Given the description of an element on the screen output the (x, y) to click on. 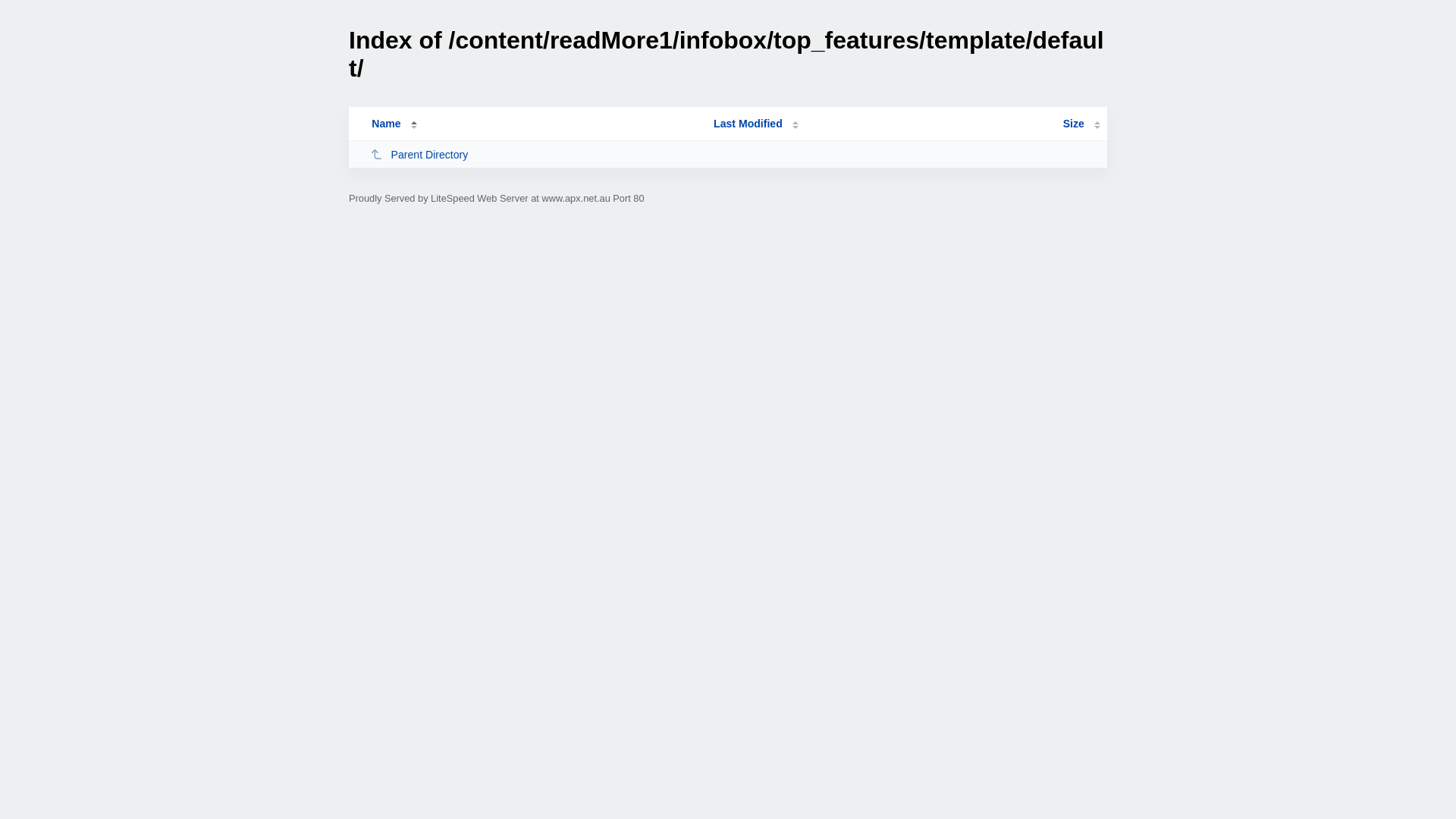
Parent Directory Element type: text (534, 153)
Size Element type: text (1081, 123)
Last Modified Element type: text (755, 123)
Name Element type: text (385, 123)
